Given the description of an element on the screen output the (x, y) to click on. 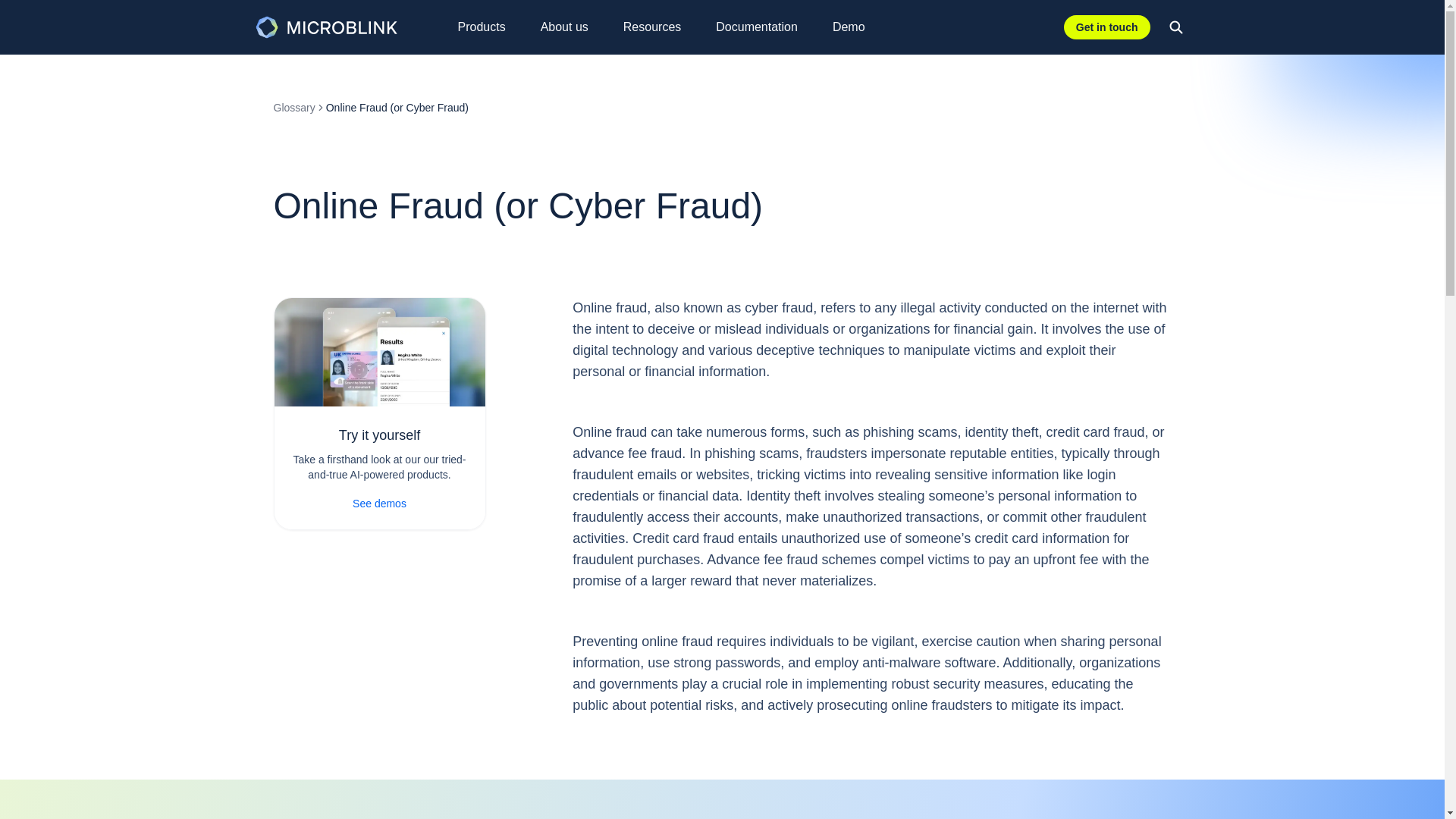
Get in touch (1107, 27)
Glossary (293, 107)
Demo (857, 27)
Documentation (764, 27)
About us (572, 27)
Products (490, 27)
Resources (660, 27)
